Given the description of an element on the screen output the (x, y) to click on. 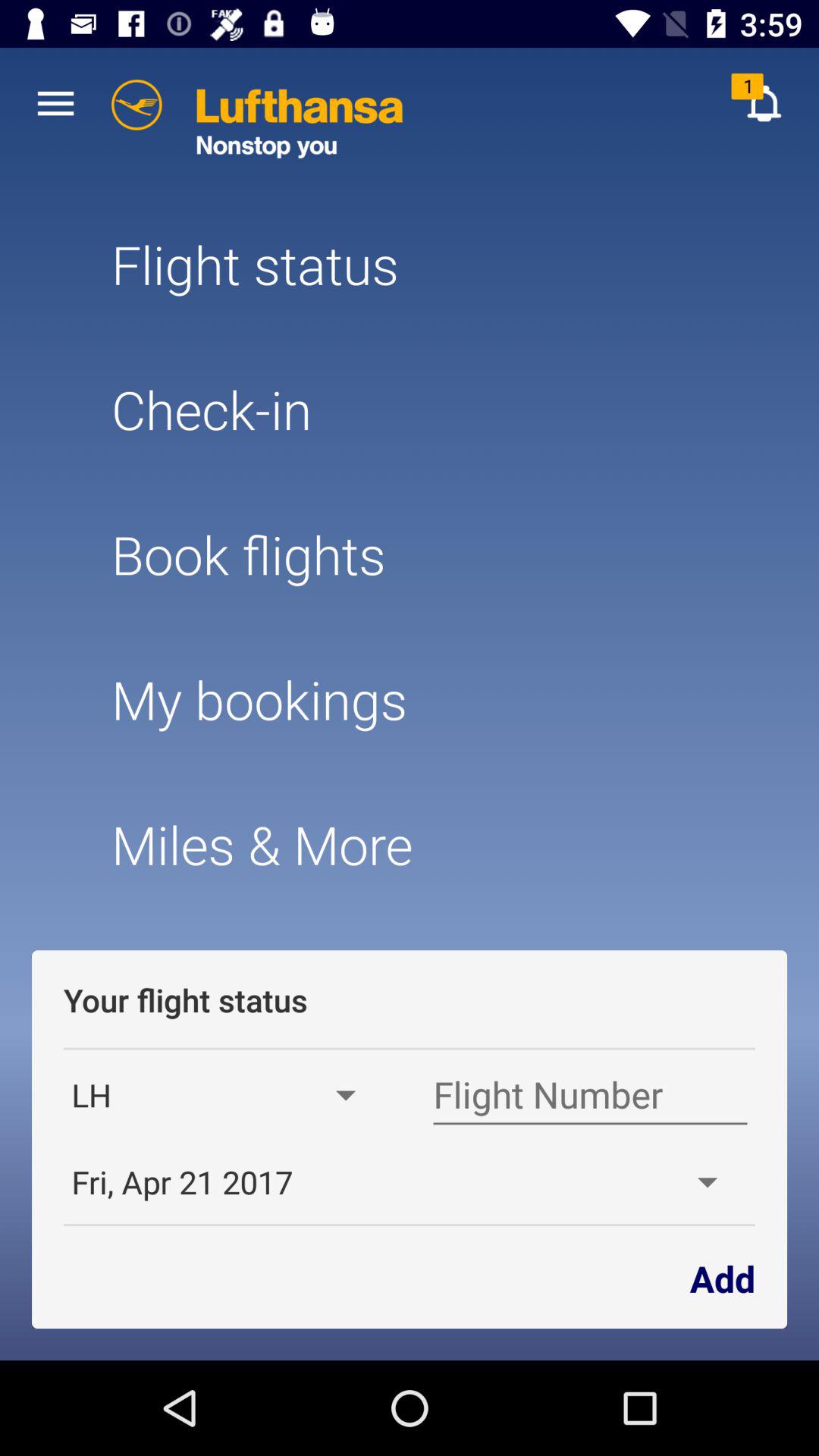
turn off the item above the book flights item (409, 409)
